Given the description of an element on the screen output the (x, y) to click on. 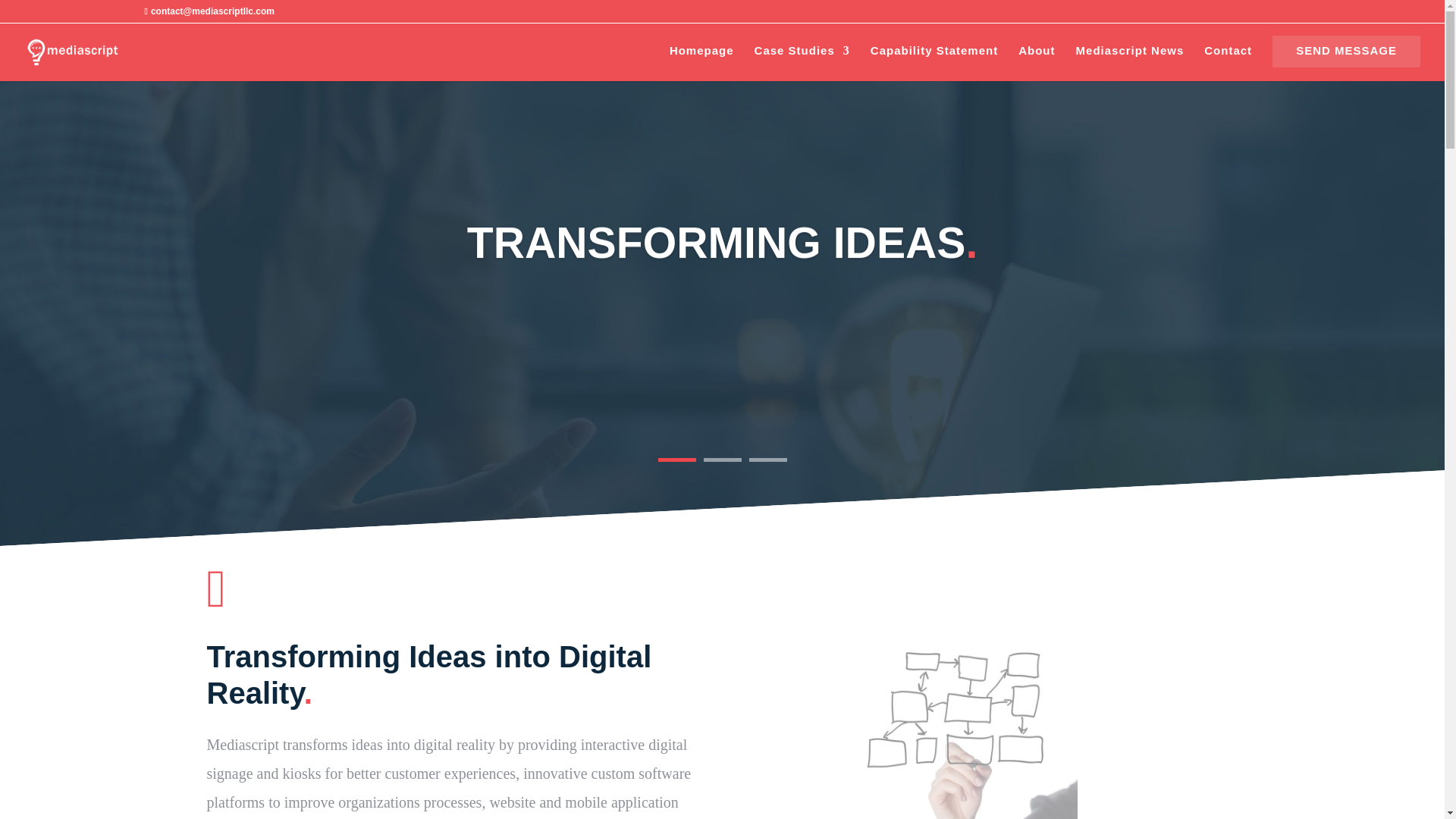
Homepage (701, 56)
3 (768, 459)
Mediascript News (1130, 56)
SEND MESSAGE (1345, 56)
1 (676, 459)
Case Studies (802, 56)
About (1035, 56)
MEDIASCRIPT Website - Workflow Image (962, 714)
Capability Statement (933, 56)
Contact (1228, 56)
2 (722, 459)
